Given the description of an element on the screen output the (x, y) to click on. 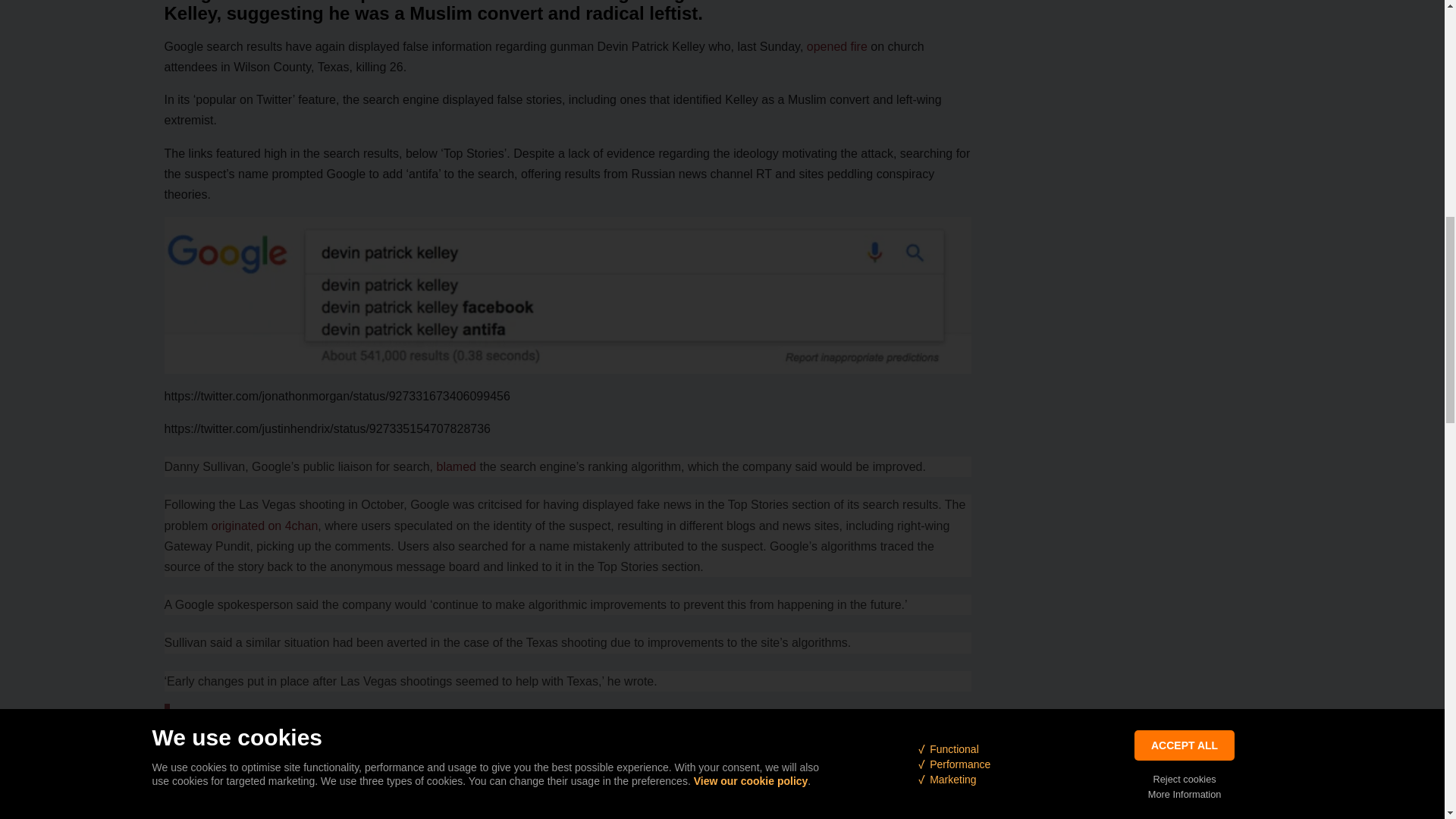
November 7, 2017 (428, 746)
originated on 4chan (264, 525)
opened fire (836, 46)
blamed (456, 466)
